Given the description of an element on the screen output the (x, y) to click on. 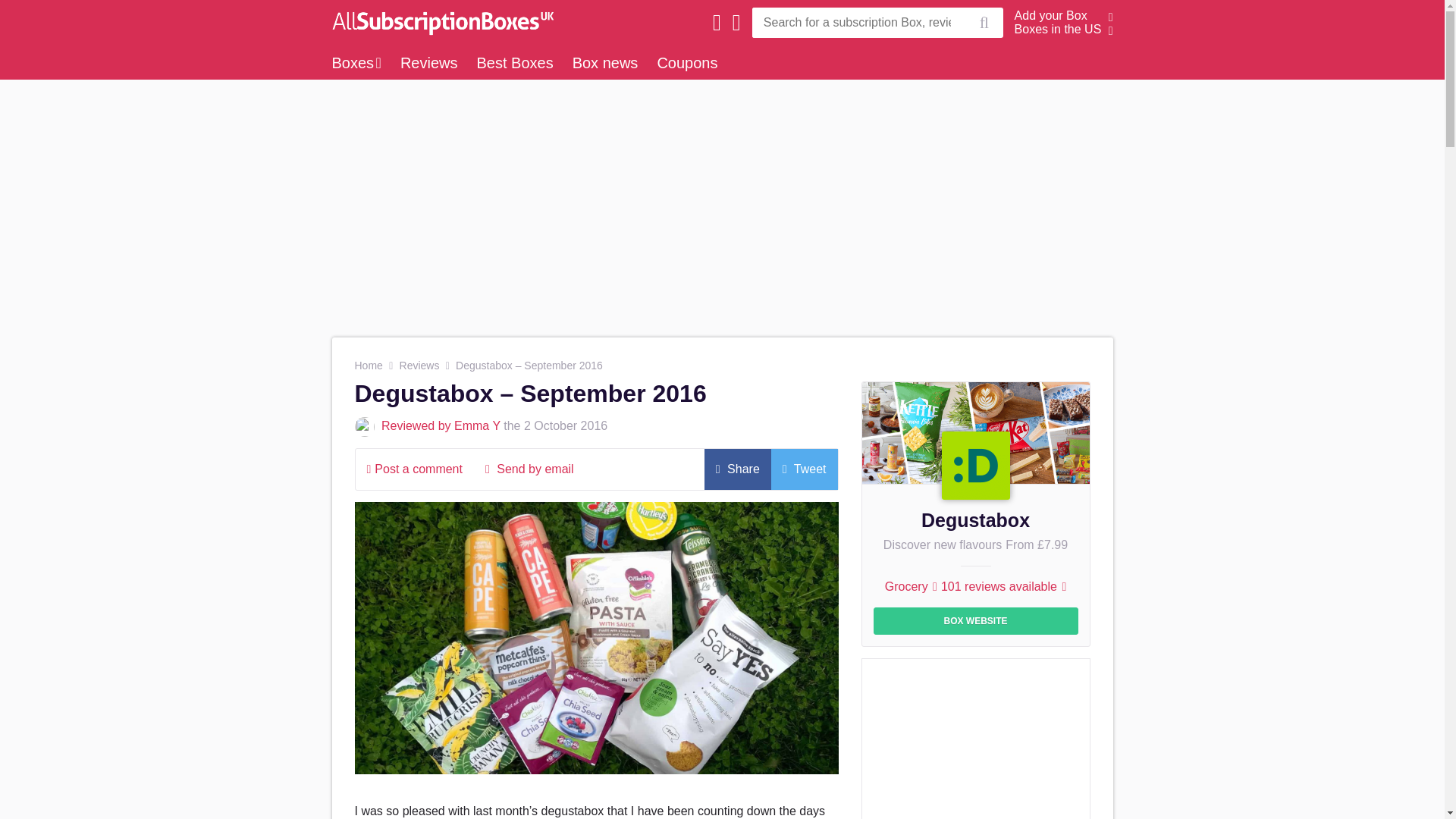
All Subscription Boxes UK (437, 22)
Boxes (356, 62)
Search for: (858, 22)
Boxes in the US (1058, 29)
Add your Box (1050, 15)
